Given the description of an element on the screen output the (x, y) to click on. 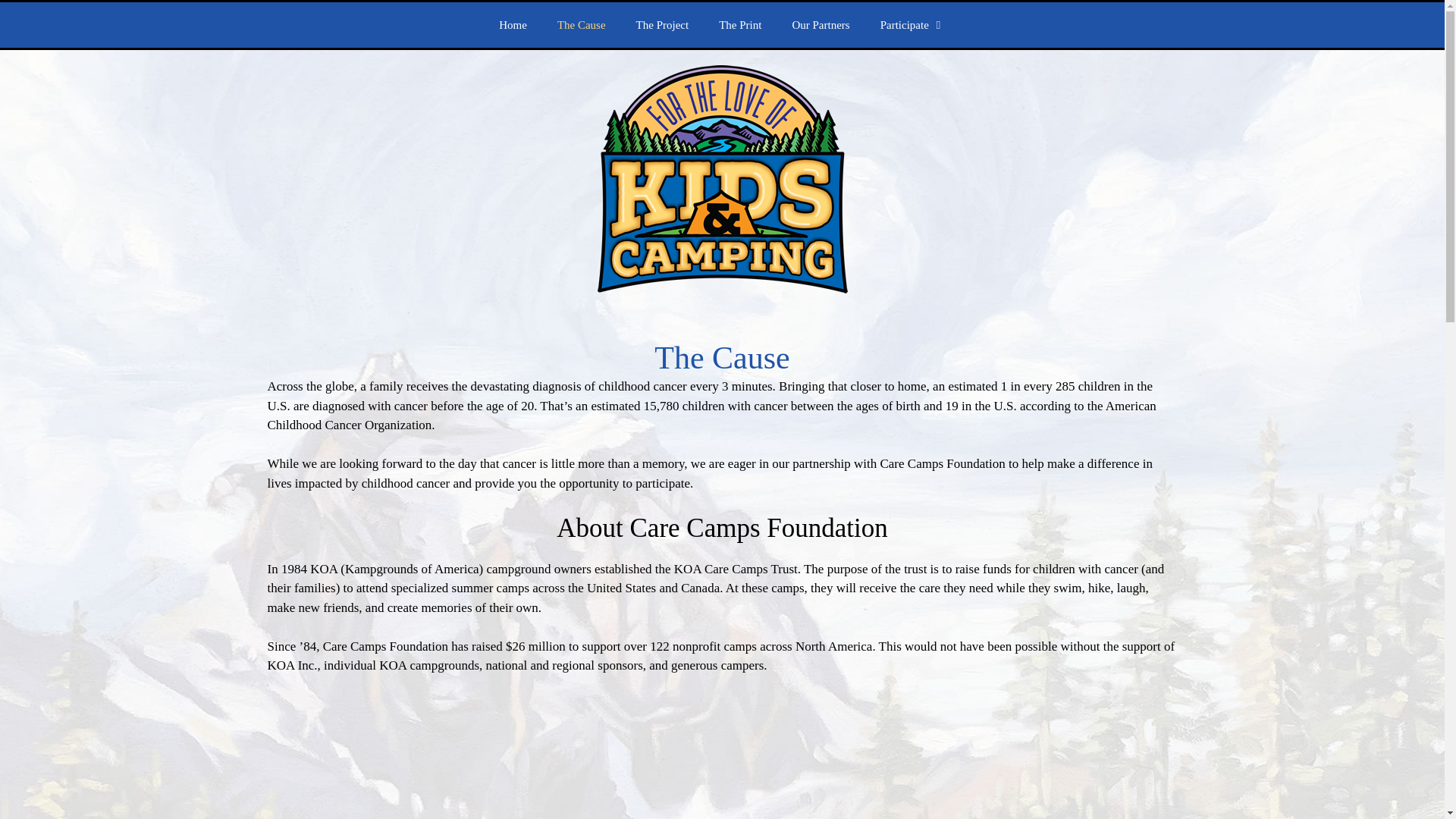
Our Partners (820, 24)
Participate (912, 24)
What is Care Camps (721, 756)
The Cause (581, 24)
The Print (739, 24)
The Project (662, 24)
Home (512, 24)
